Given the description of an element on the screen output the (x, y) to click on. 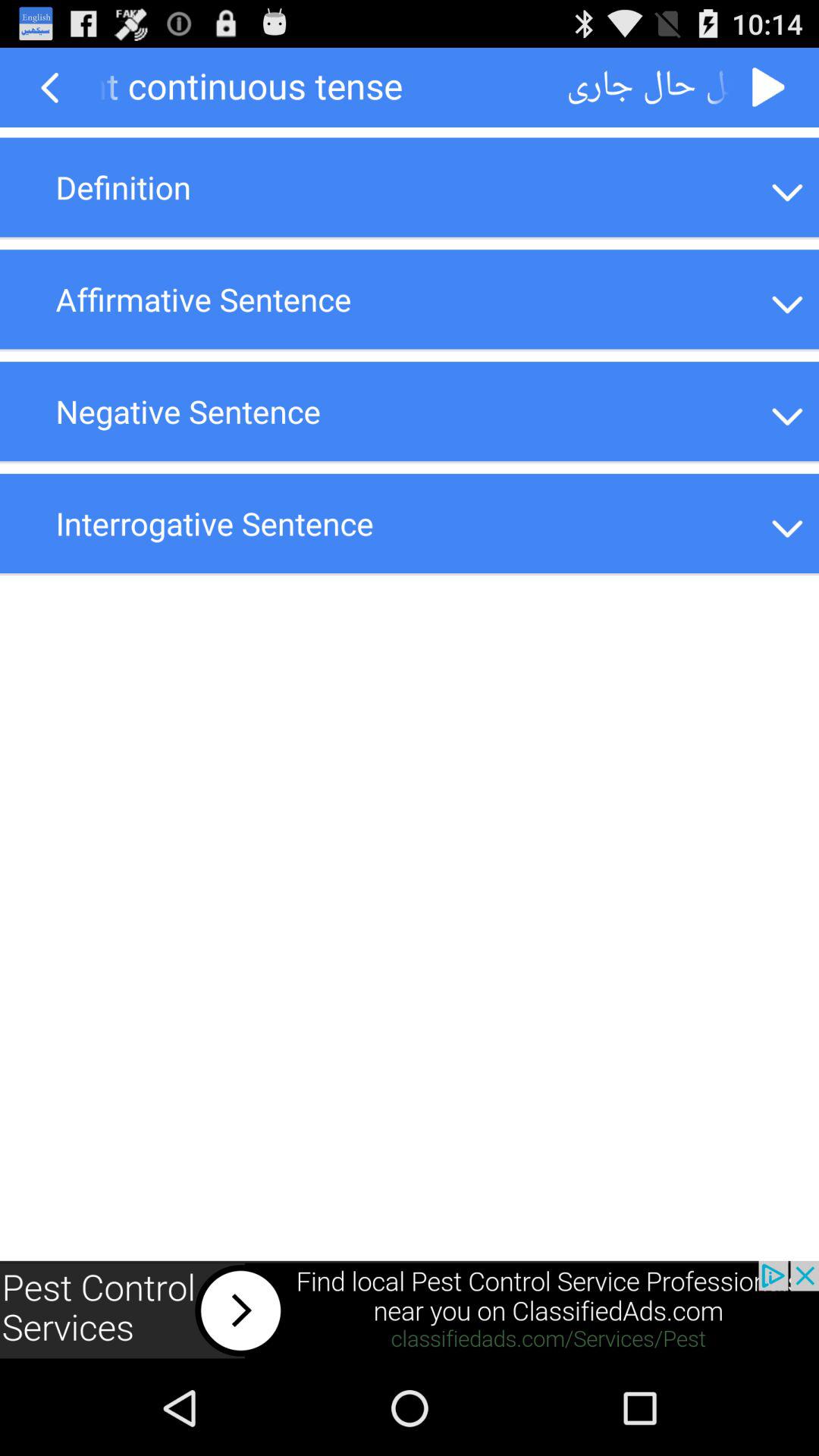
play (768, 87)
